Given the description of an element on the screen output the (x, y) to click on. 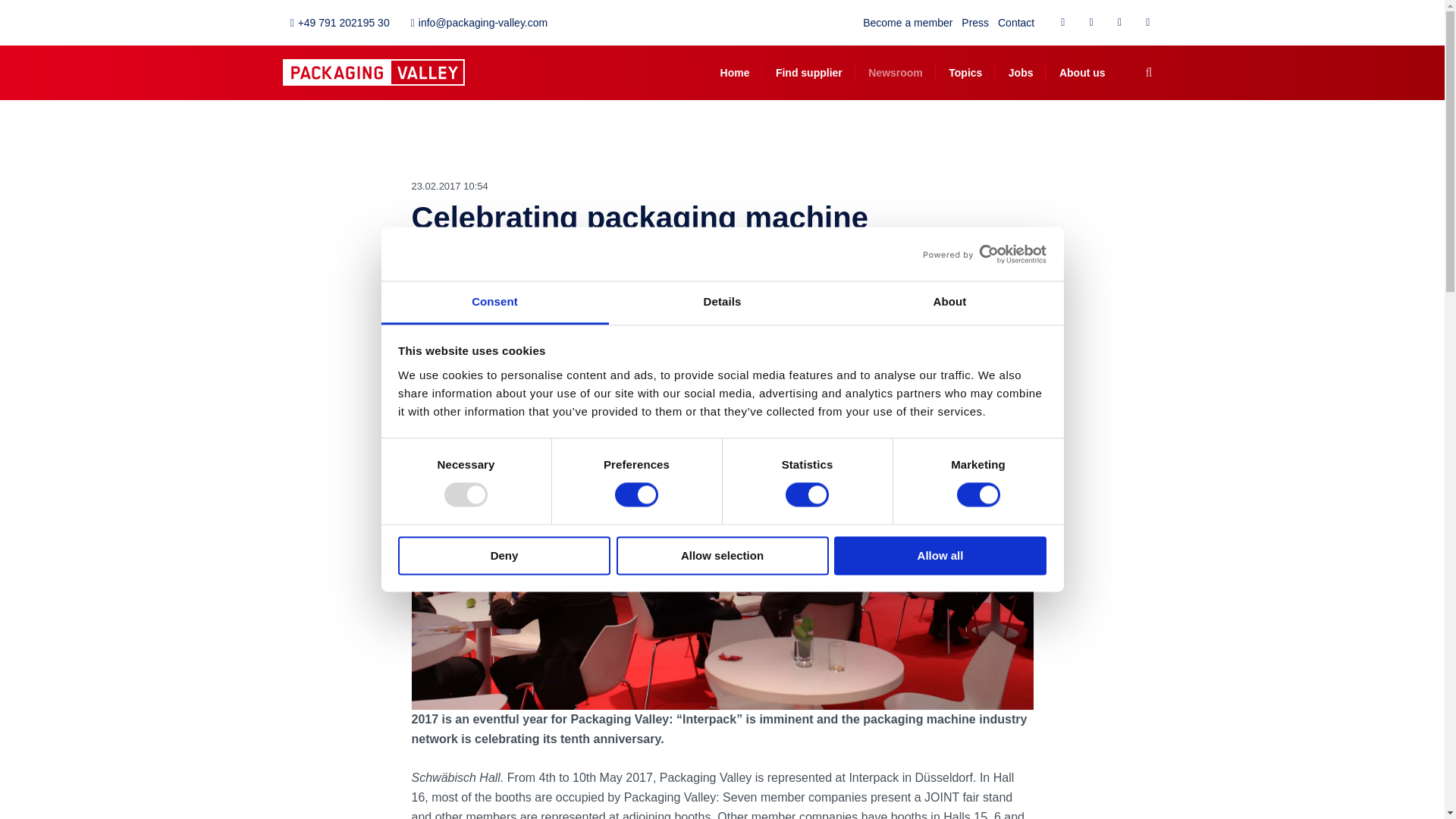
Deny (503, 555)
Allow selection (721, 555)
Press (974, 22)
Consent (494, 302)
Contact (1015, 22)
Newsroom (895, 72)
Allow all (940, 555)
Anbieter finden (809, 72)
Become a member of Packaging Valley (907, 22)
Details (721, 302)
About (948, 302)
Home (734, 72)
